Given the description of an element on the screen output the (x, y) to click on. 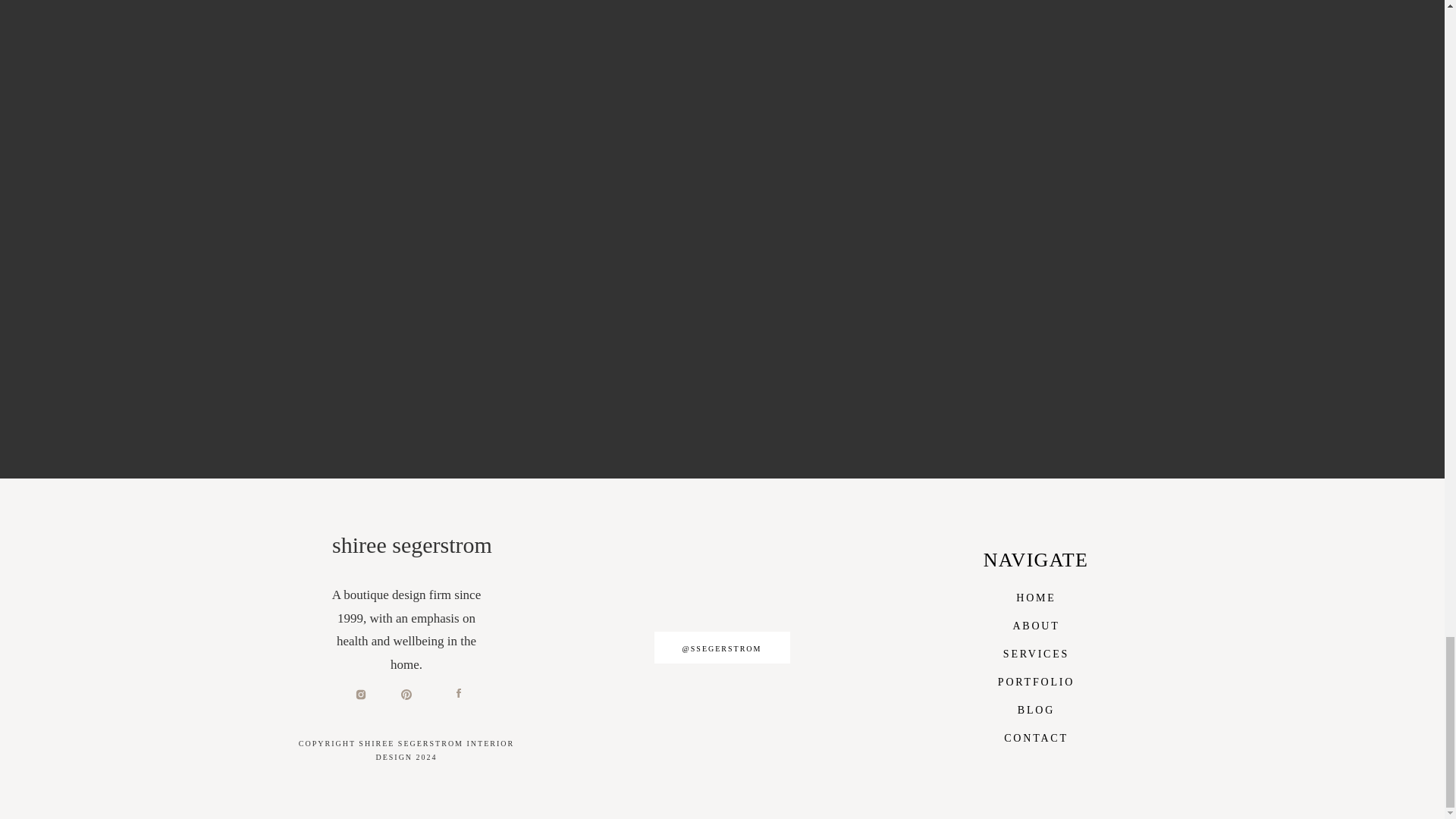
PORTFOLIO (1035, 680)
ABOUT (1035, 624)
SERVICES (1035, 652)
HOME (1035, 596)
BLOG (1035, 708)
CONTACT (1035, 736)
